Given the description of an element on the screen output the (x, y) to click on. 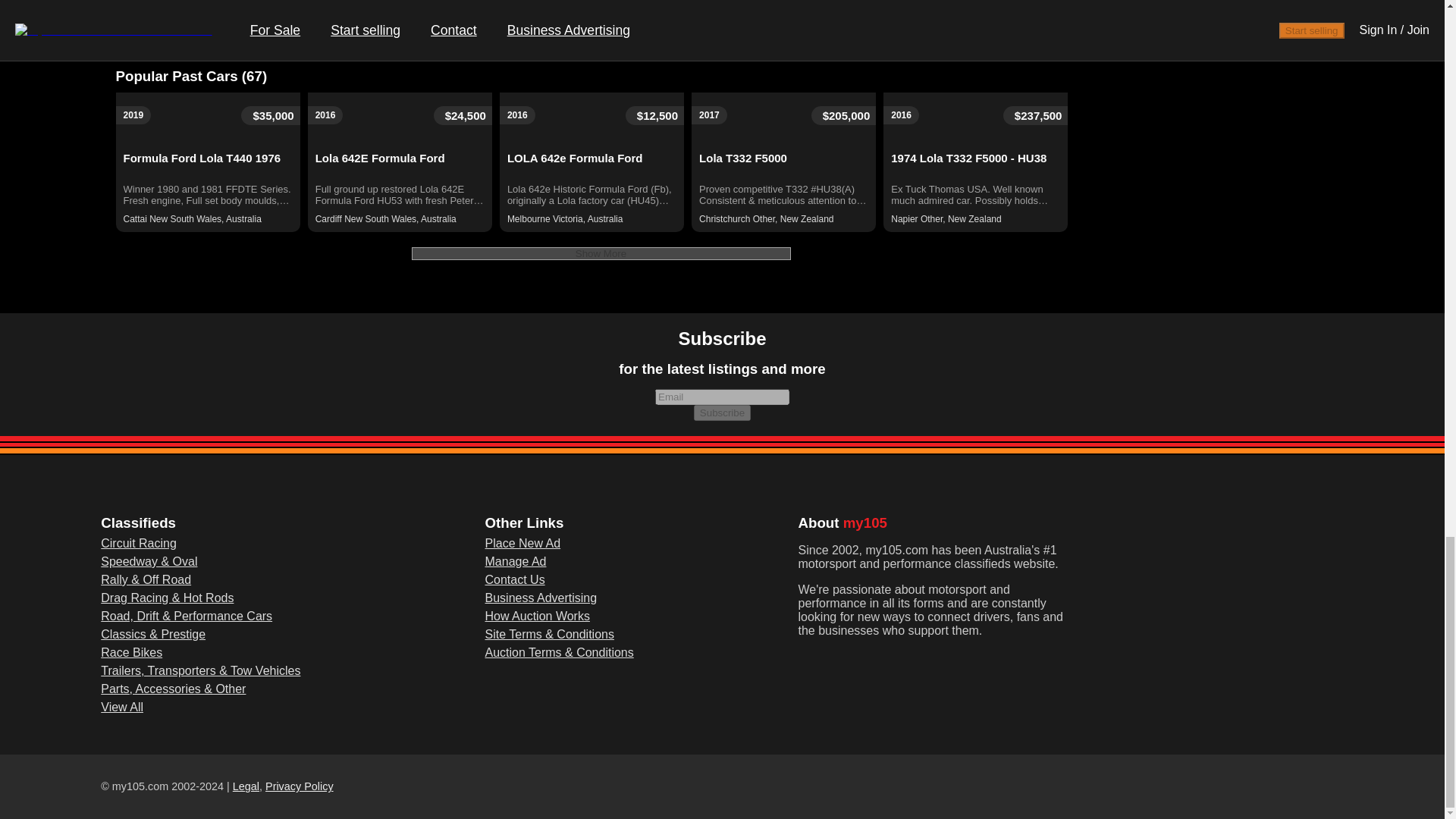
Show More (600, 253)
